Given the description of an element on the screen output the (x, y) to click on. 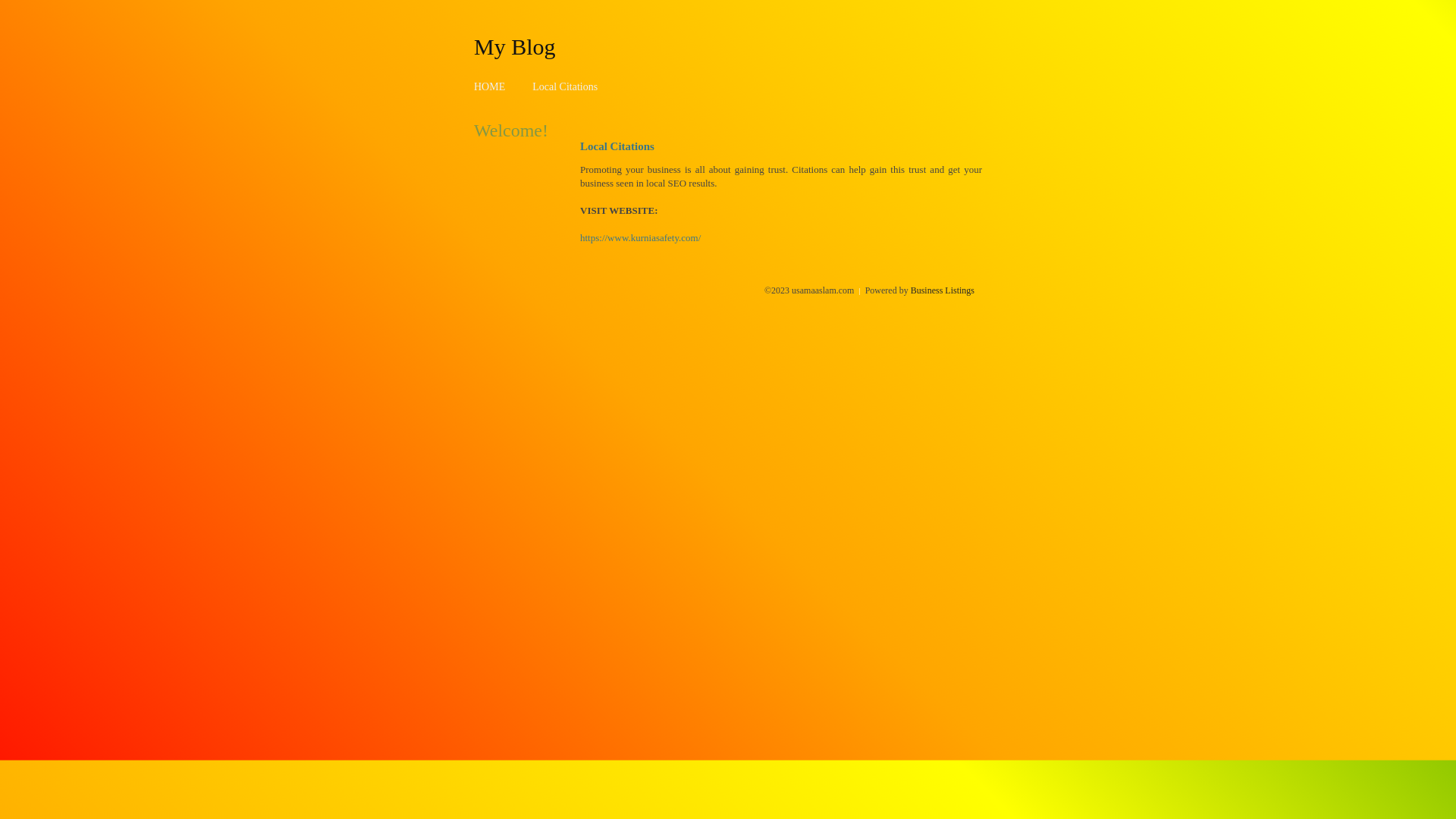
Local Citations Element type: text (564, 86)
Business Listings Element type: text (942, 290)
HOME Element type: text (489, 86)
https://www.kurniasafety.com/ Element type: text (640, 237)
My Blog Element type: text (514, 46)
